Given the description of an element on the screen output the (x, y) to click on. 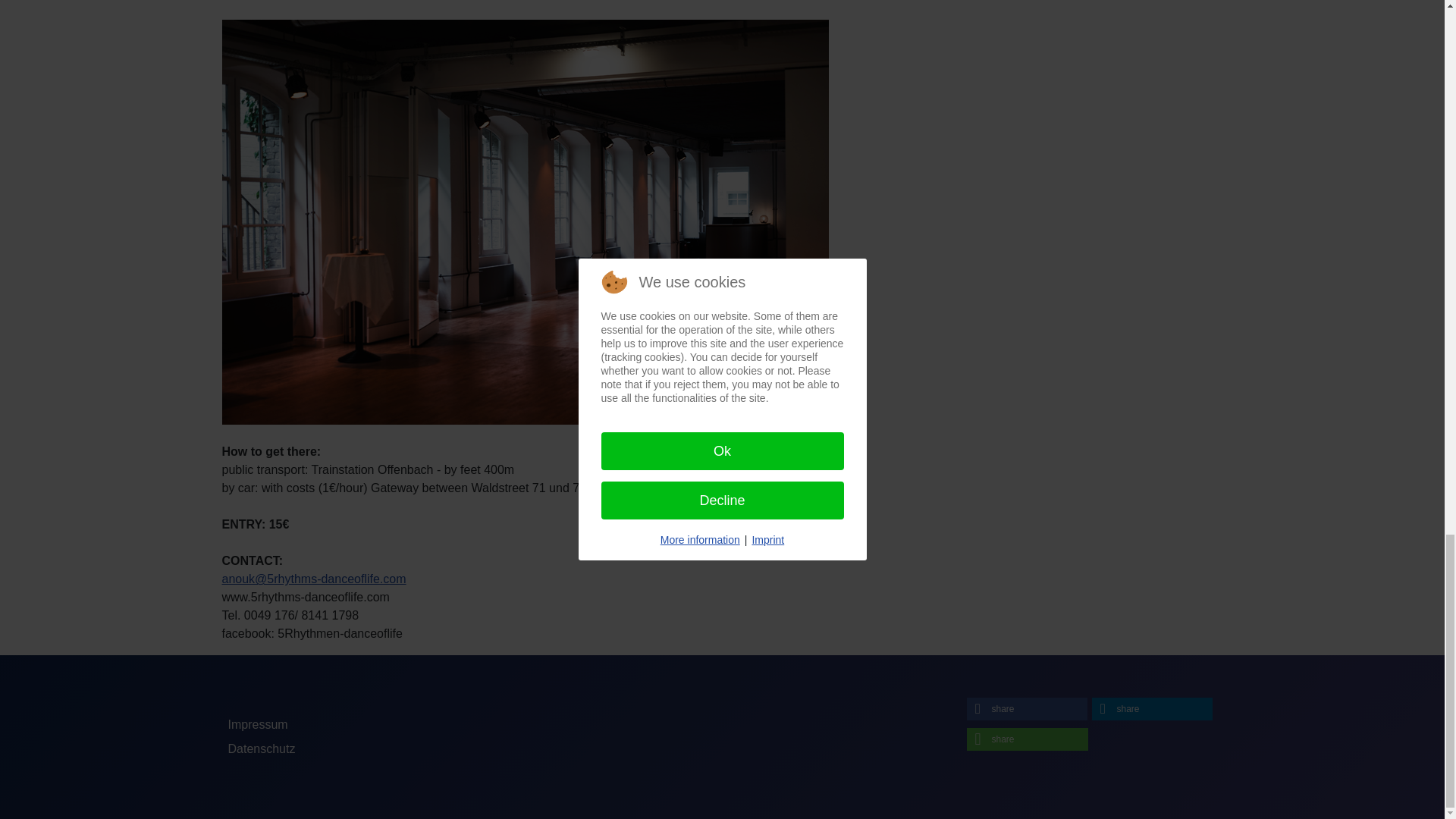
Impressum (256, 724)
Datenschutz (261, 748)
Share on LinkedIn (1152, 708)
share (1152, 708)
Share on Whatsapp (1026, 739)
share (1026, 708)
share (1026, 739)
Share on Facebook (1026, 708)
